Given the description of an element on the screen output the (x, y) to click on. 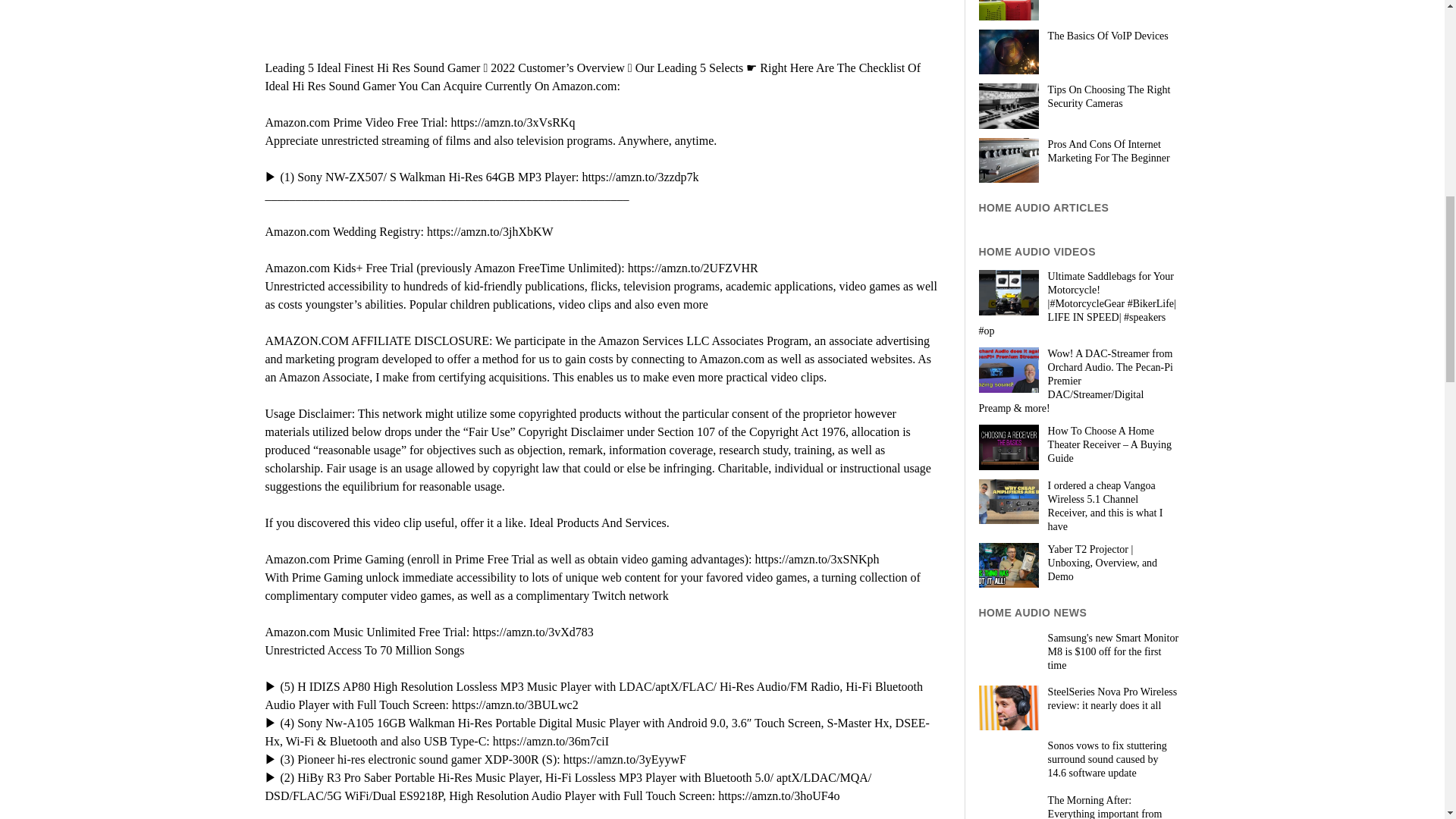
Pros and Cons of Hidden Surveillance Cameras (1078, 1)
Tips On Choosing The Right Security Cameras (1078, 96)
The Basics Of VoIP Devices (1078, 36)
